Given the description of an element on the screen output the (x, y) to click on. 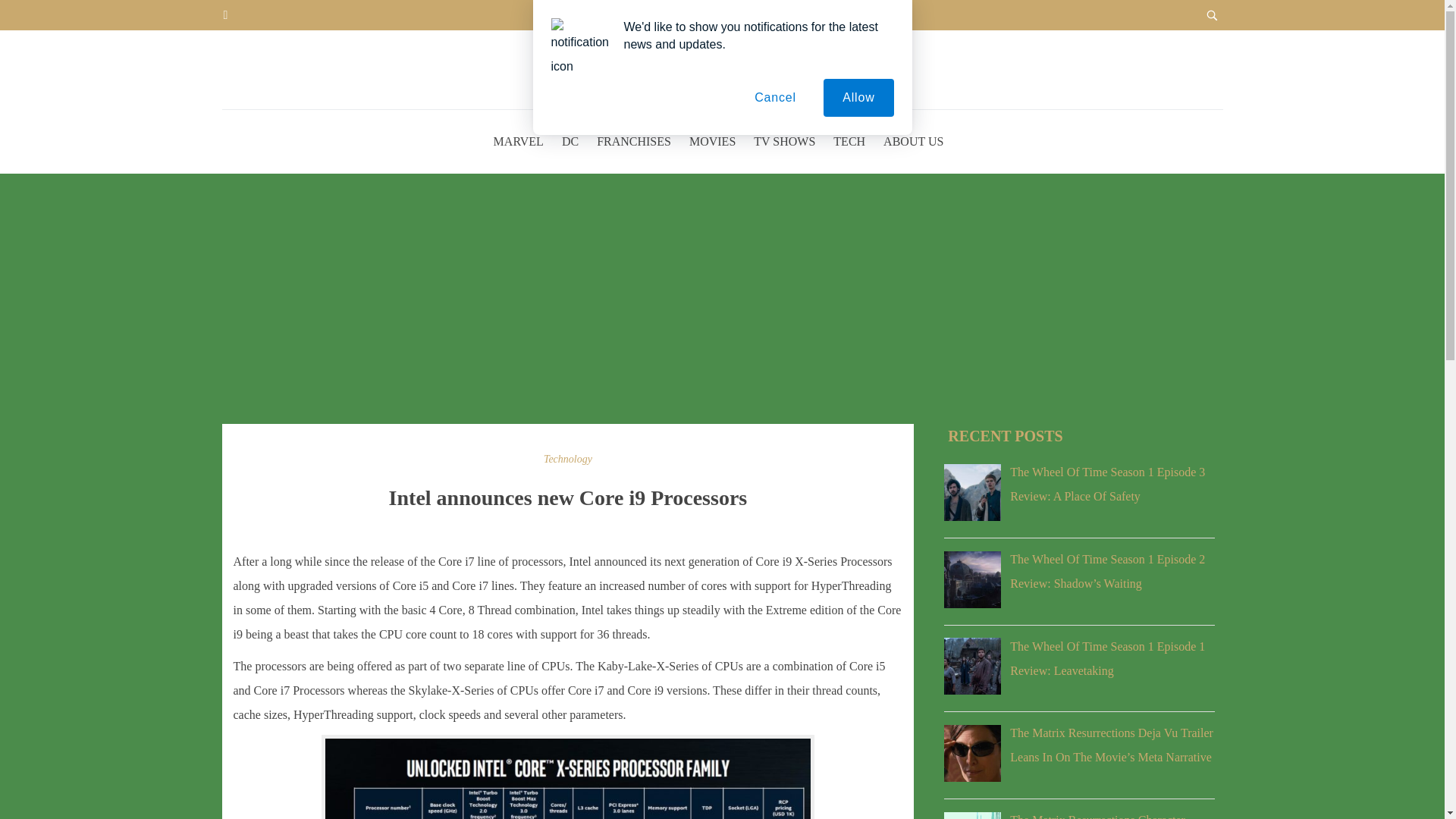
MARVEL (518, 141)
